Given the description of an element on the screen output the (x, y) to click on. 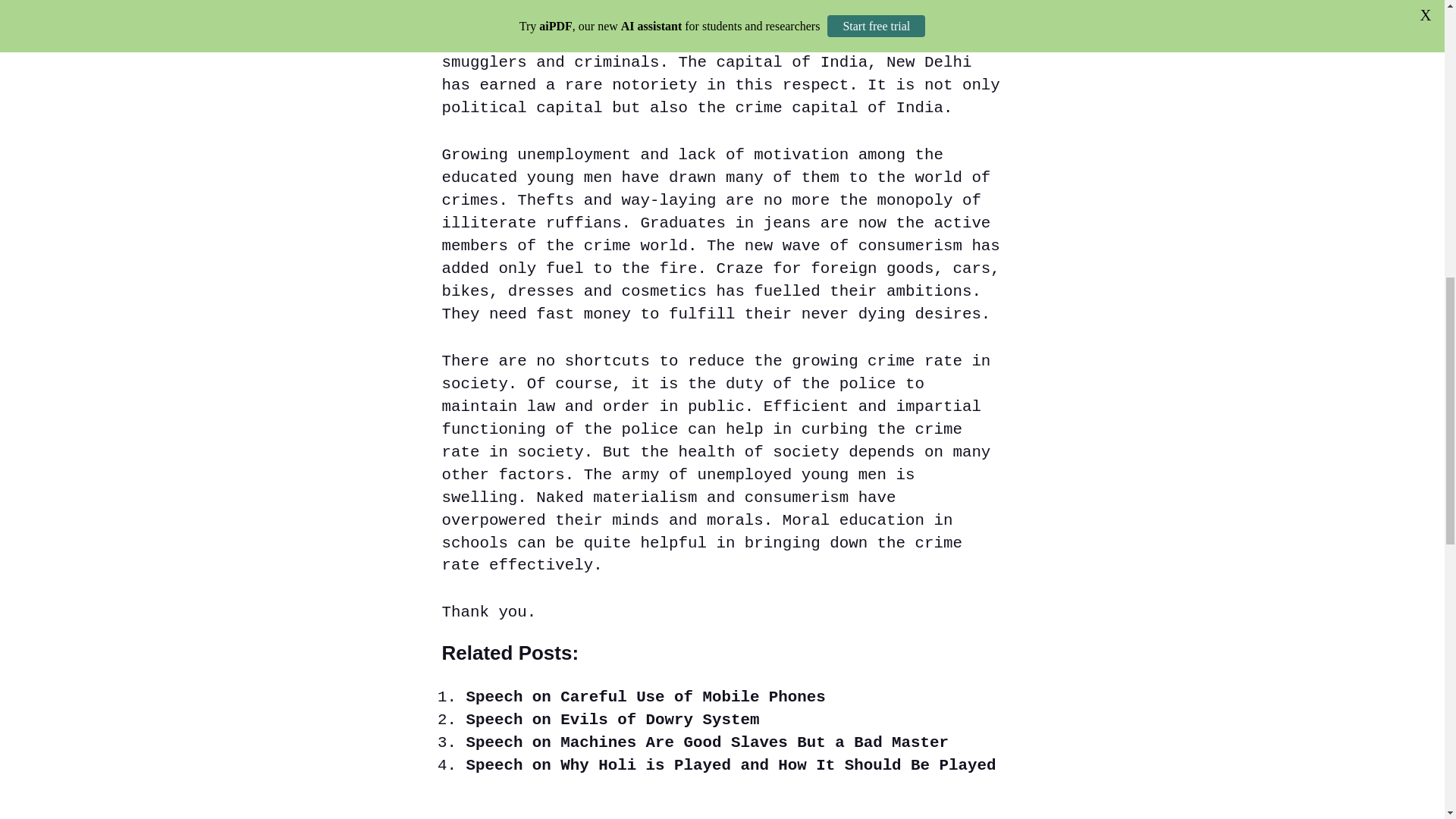
Speech on Machines Are Good Slaves But a Bad Master (707, 742)
Speech on Careful Use of Mobile Phones (645, 696)
Speech on Why Holi is Played and How It Should Be Played (730, 764)
Speech on Evils of Dowry System (611, 719)
